Given the description of an element on the screen output the (x, y) to click on. 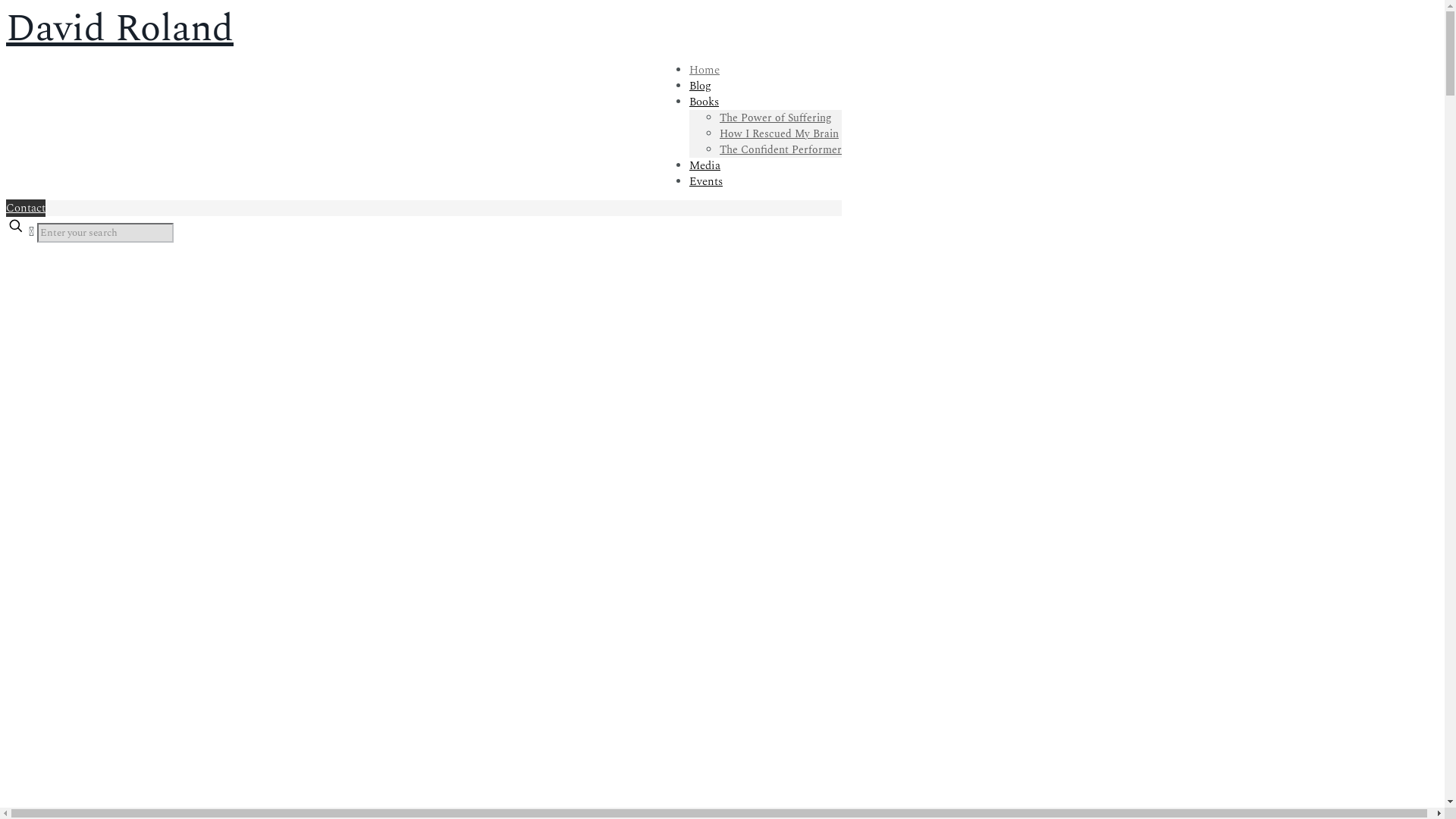
The Confident Performer Element type: text (780, 149)
Media Element type: text (704, 165)
Books Element type: text (703, 101)
Contact Element type: text (25, 207)
Blog Element type: text (700, 85)
How I Rescued My Brain Element type: text (778, 133)
Home Element type: text (704, 70)
Events Element type: text (705, 181)
The Power of Suffering Element type: text (775, 117)
